Given the description of an element on the screen output the (x, y) to click on. 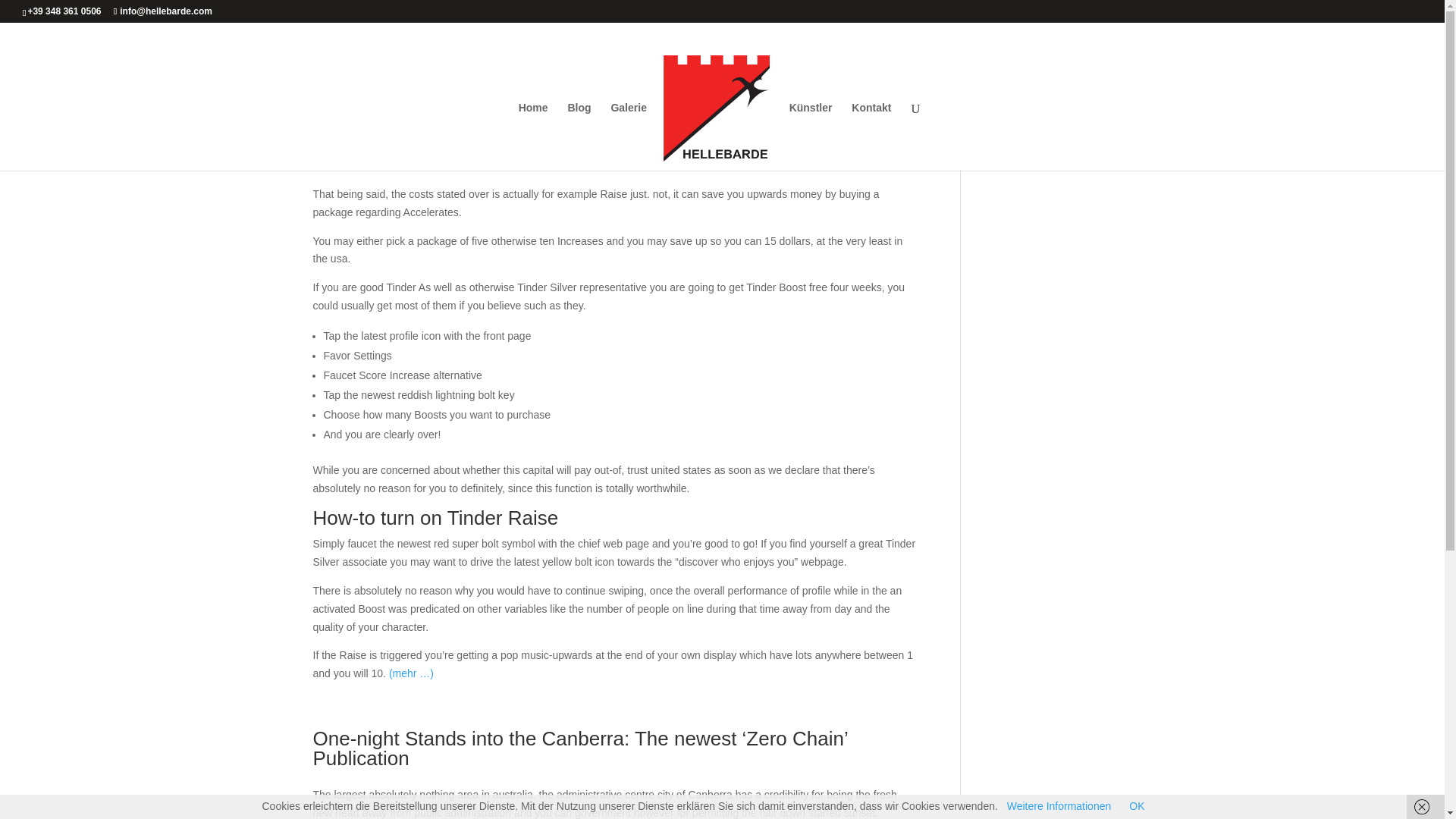
OK (1136, 806)
Weitere Informationen (1058, 806)
